Given the description of an element on the screen output the (x, y) to click on. 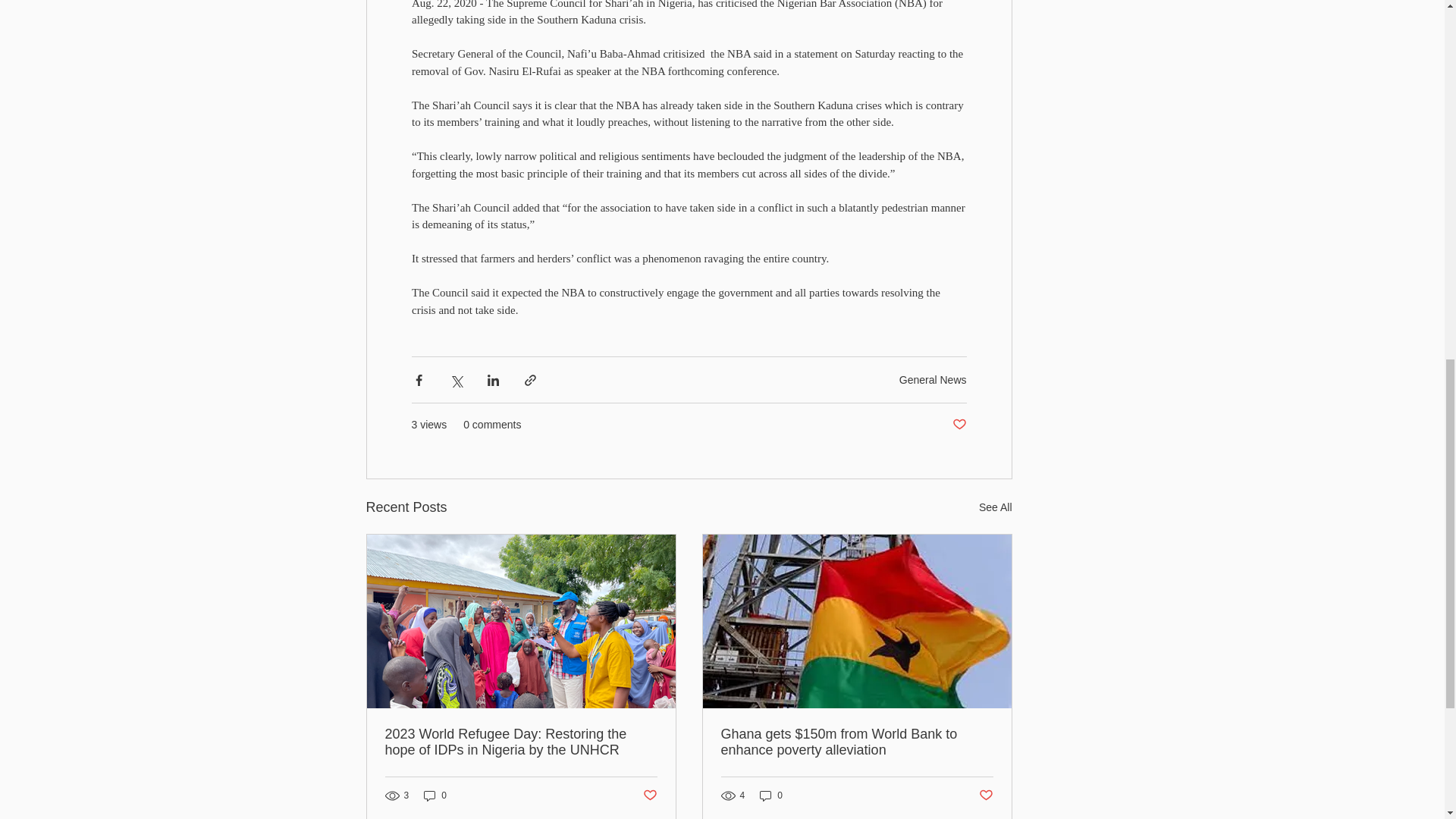
General News (932, 379)
Post not marked as liked (985, 795)
0 (435, 795)
Post not marked as liked (650, 795)
Post not marked as liked (959, 424)
0 (771, 795)
See All (994, 507)
